Given the description of an element on the screen output the (x, y) to click on. 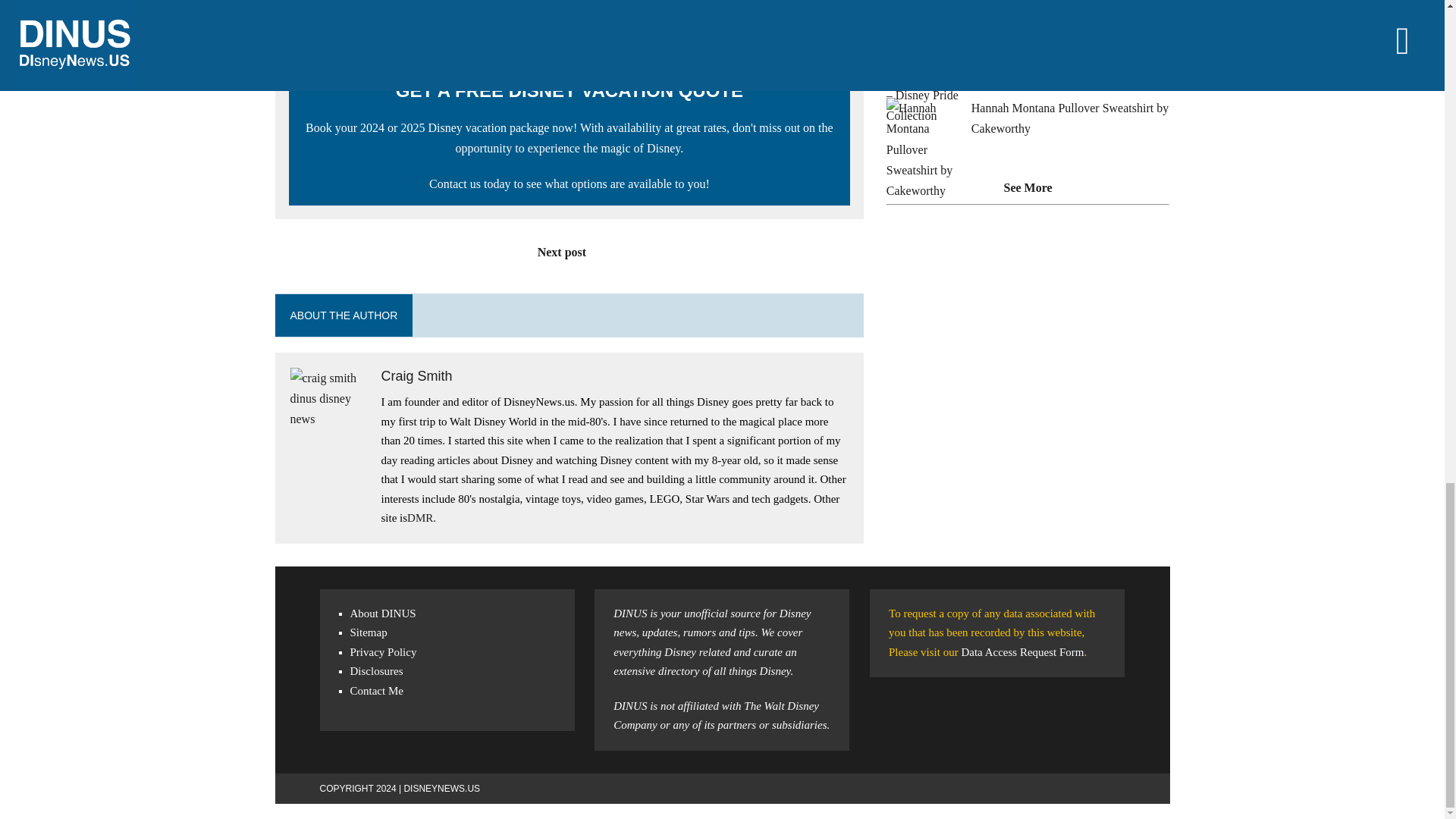
About DisneyNews (383, 613)
Contact us today to see what options are available to you! (569, 183)
See More (1028, 187)
GET A FREE DISNEY VACATION QUOTE (569, 90)
About DINUS (383, 613)
Hannah Montana Pullover Sweatshirt by Cakeworthy (1070, 118)
Next post (569, 251)
The Walt Disney Company (715, 716)
DMR (419, 517)
